Given the description of an element on the screen output the (x, y) to click on. 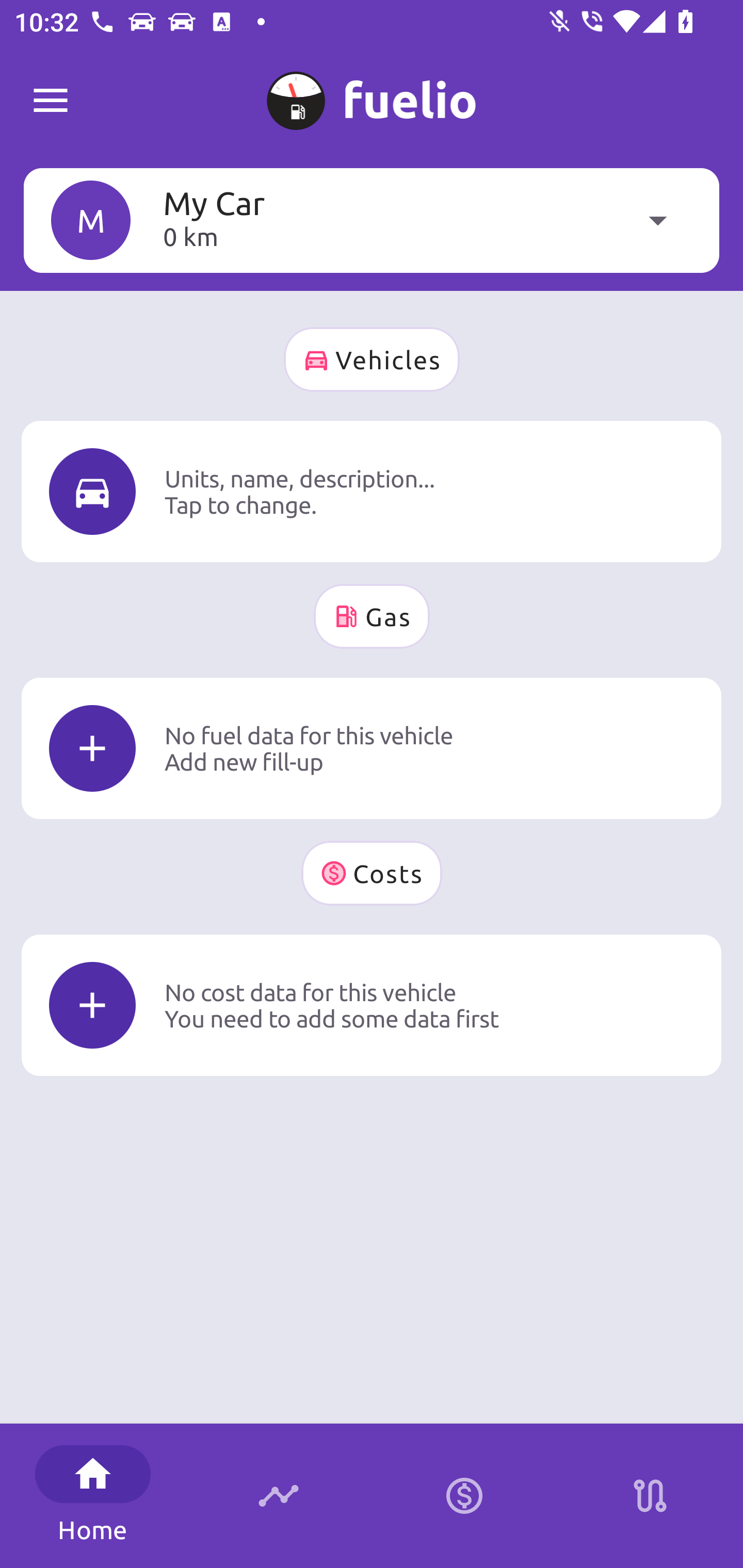
Fuelio (50, 101)
M My Car 0 km (371, 219)
Vehicles (371, 359)
Icon Units, name, description...
Tap to change. (371, 491)
Icon (92, 491)
Gas (371, 616)
Icon No fuel data for this vehicle
Add new fill-up (371, 747)
Icon (92, 748)
Costs (371, 873)
Icon (92, 1004)
Timeline (278, 1495)
Calculator (464, 1495)
Stations on route (650, 1495)
